Given the description of an element on the screen output the (x, y) to click on. 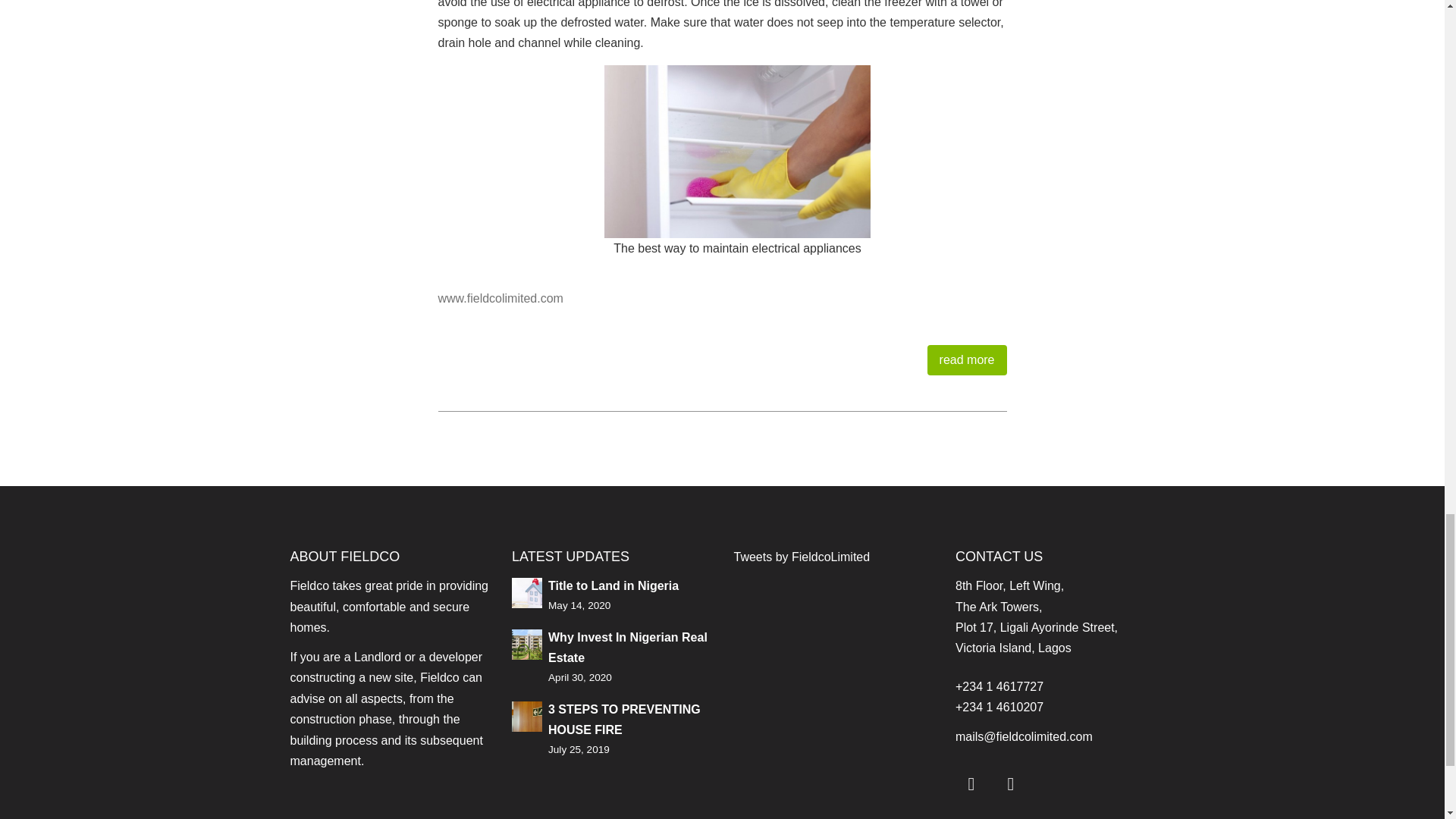
Tweets by FieldcoLimited (801, 556)
Title to Land in Nigeria (613, 585)
www.fieldcolimited.com (500, 297)
read more (967, 359)
3 STEPS TO PREVENTING HOUSE FIRE (624, 719)
3 STEPS TO PREVENTING HOUSE FIRE (526, 715)
Title to Land in Nigeria (613, 585)
Why Invest In Nigerian Real Estate (526, 643)
Why Invest In Nigerian Real Estate (627, 647)
Title to Land in Nigeria (526, 591)
